Given the description of an element on the screen output the (x, y) to click on. 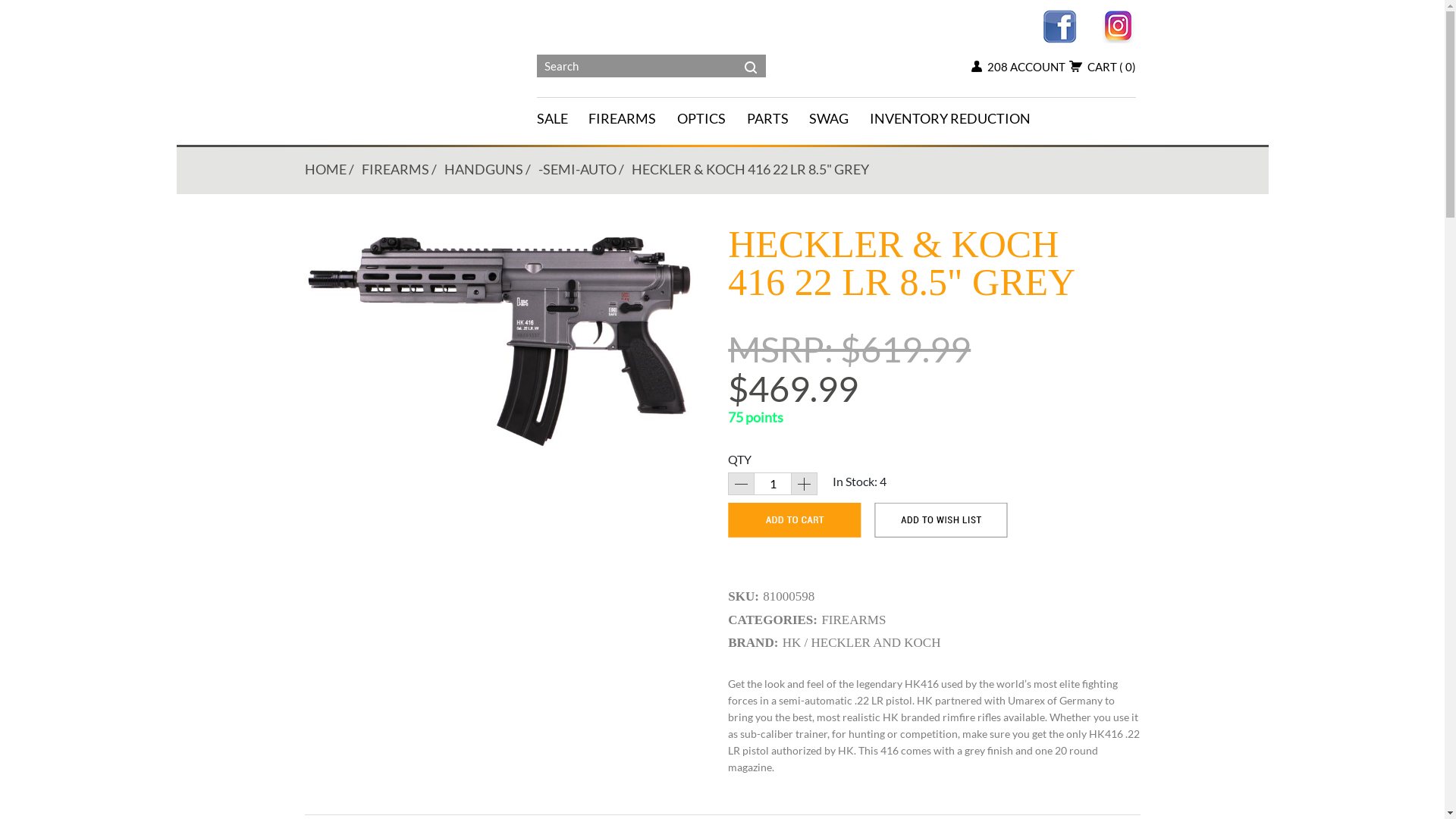
SWAG Element type: text (839, 115)
FIREARMS Element type: text (394, 168)
HANDGUNS Element type: text (483, 168)
208 ACCOUNT Element type: text (1017, 66)
HOME Element type: text (325, 168)
FIREARMS Element type: text (632, 115)
INVENTORY REDUCTION Element type: text (960, 115)
CART ( 0) Element type: text (1102, 66)
-SEMI-AUTO Element type: text (577, 168)
PARTS Element type: text (777, 115)
OPTICS Element type: text (711, 115)
SALE Element type: text (562, 115)
